Given the description of an element on the screen output the (x, y) to click on. 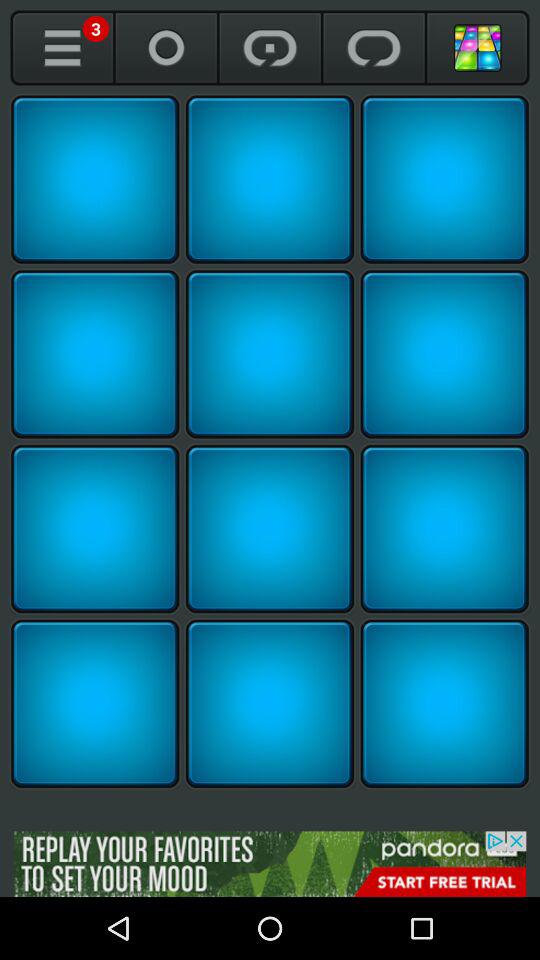
select field (95, 179)
